Given the description of an element on the screen output the (x, y) to click on. 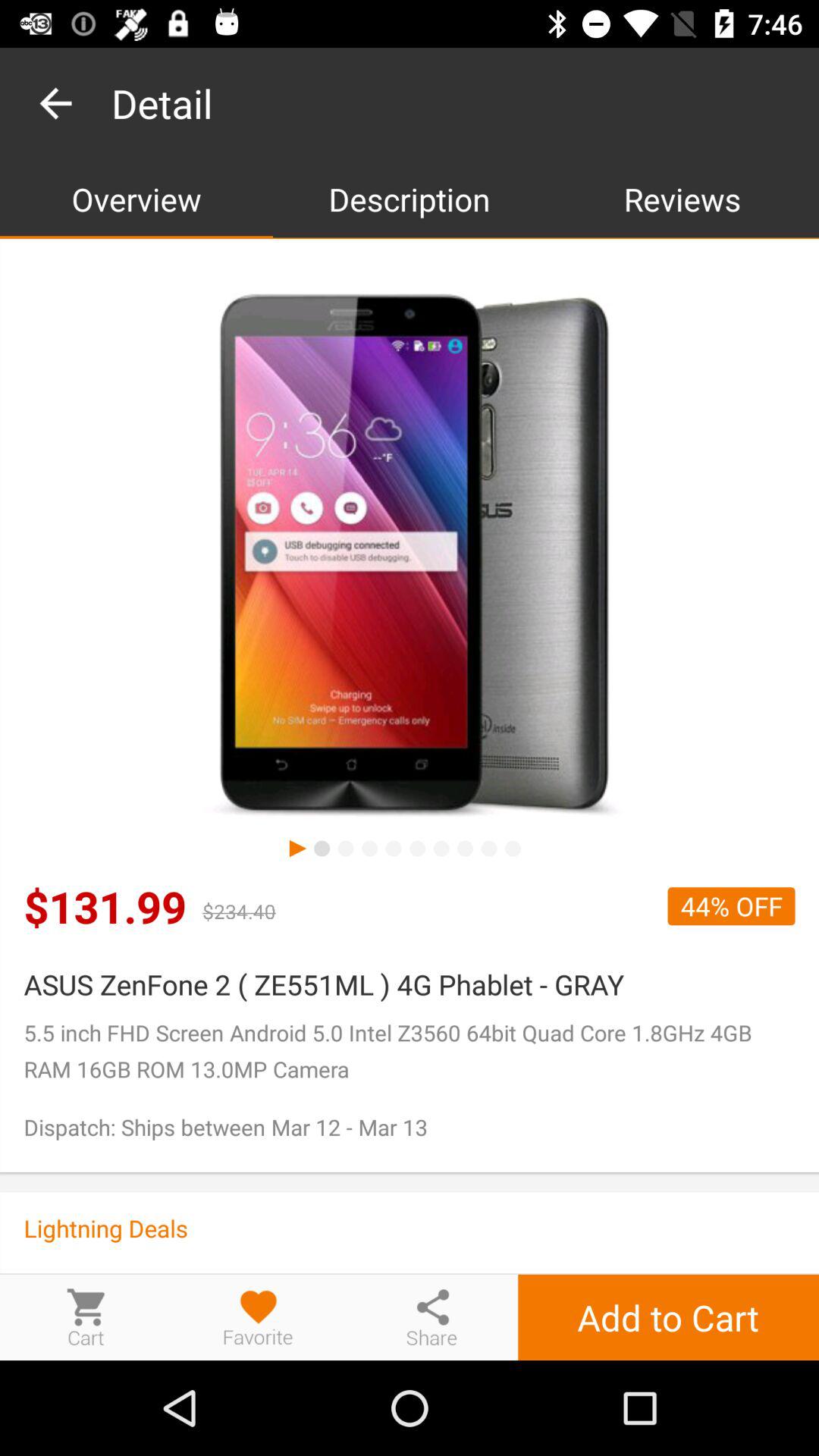
turn off icon to the right of the overview item (409, 198)
